Given the description of an element on the screen output the (x, y) to click on. 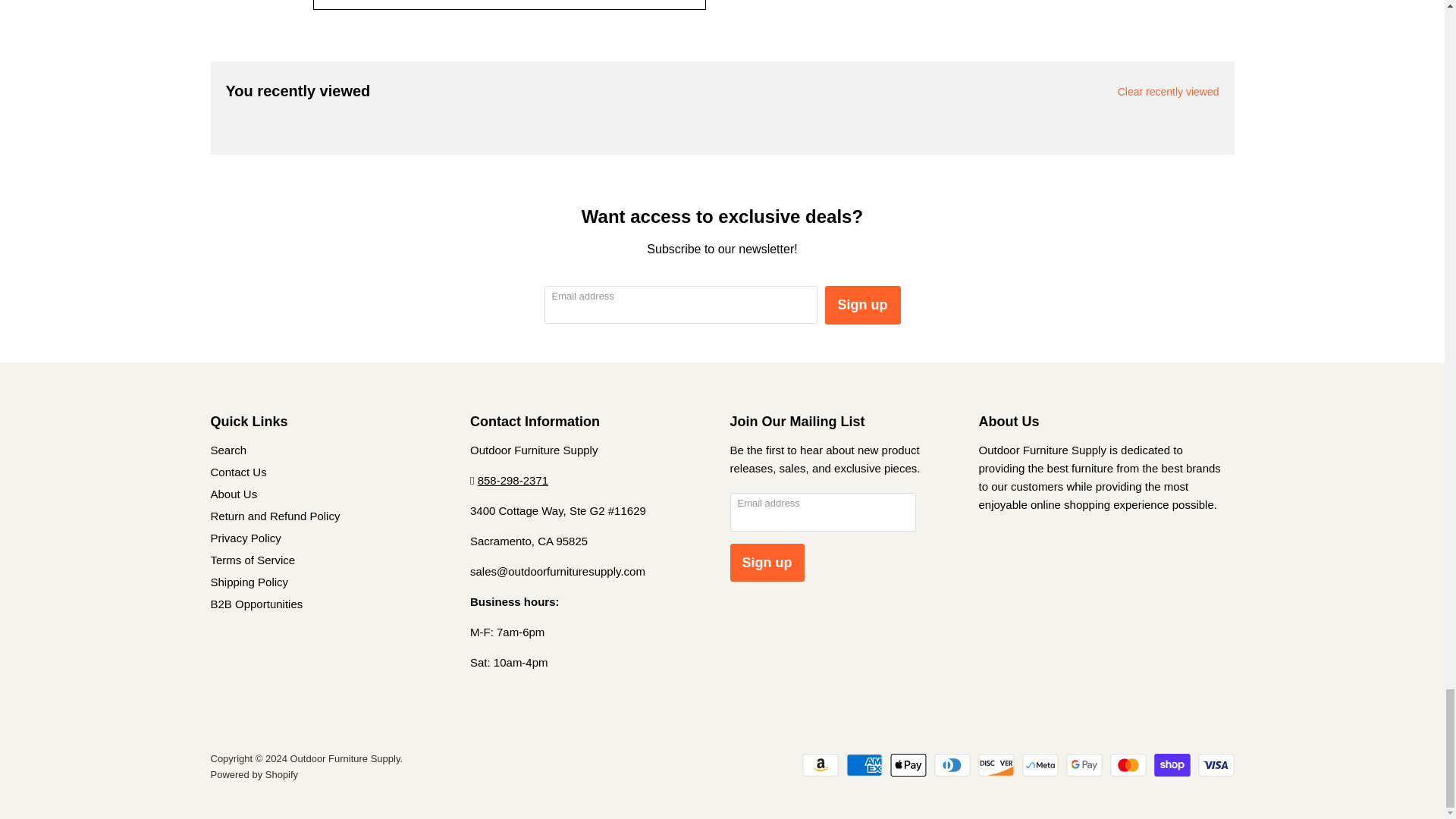
tel:858-298-2371 (512, 480)
American Express (863, 764)
Discover (996, 764)
Apple Pay (907, 764)
Diners Club (952, 764)
Amazon (820, 764)
